Given the description of an element on the screen output the (x, y) to click on. 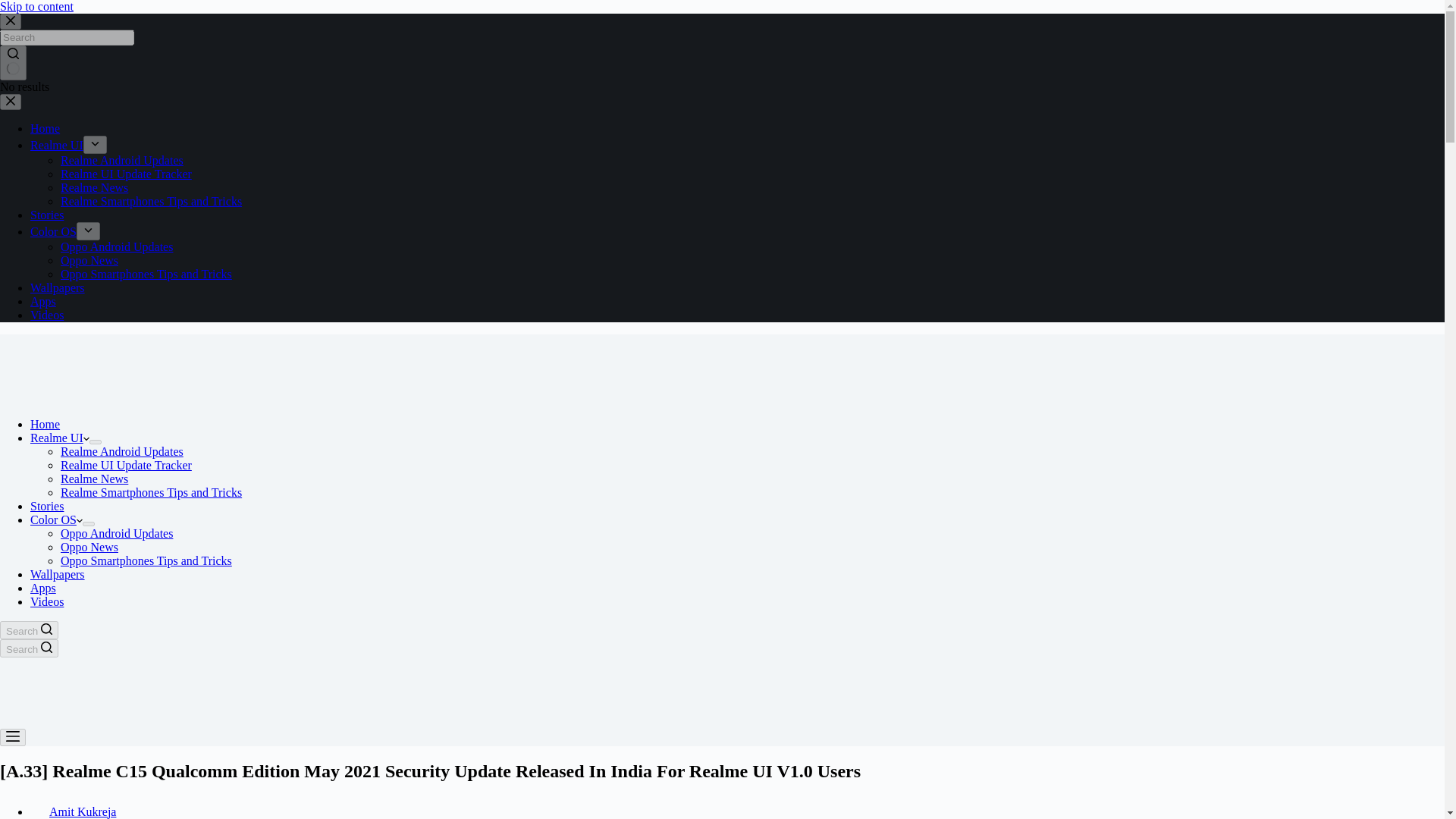
Realme UI Update Tracker (126, 464)
Oppo News (89, 259)
Color OS (56, 519)
Apps (43, 587)
Realme UI (56, 144)
Videos (47, 314)
Realme Android Updates (122, 451)
Skip to content (37, 6)
Home (44, 128)
Stories (47, 214)
Home (44, 423)
Stories (47, 505)
Wallpapers (57, 574)
Posts by Amit Kukreja (82, 811)
Oppo Android Updates (117, 533)
